Given the description of an element on the screen output the (x, y) to click on. 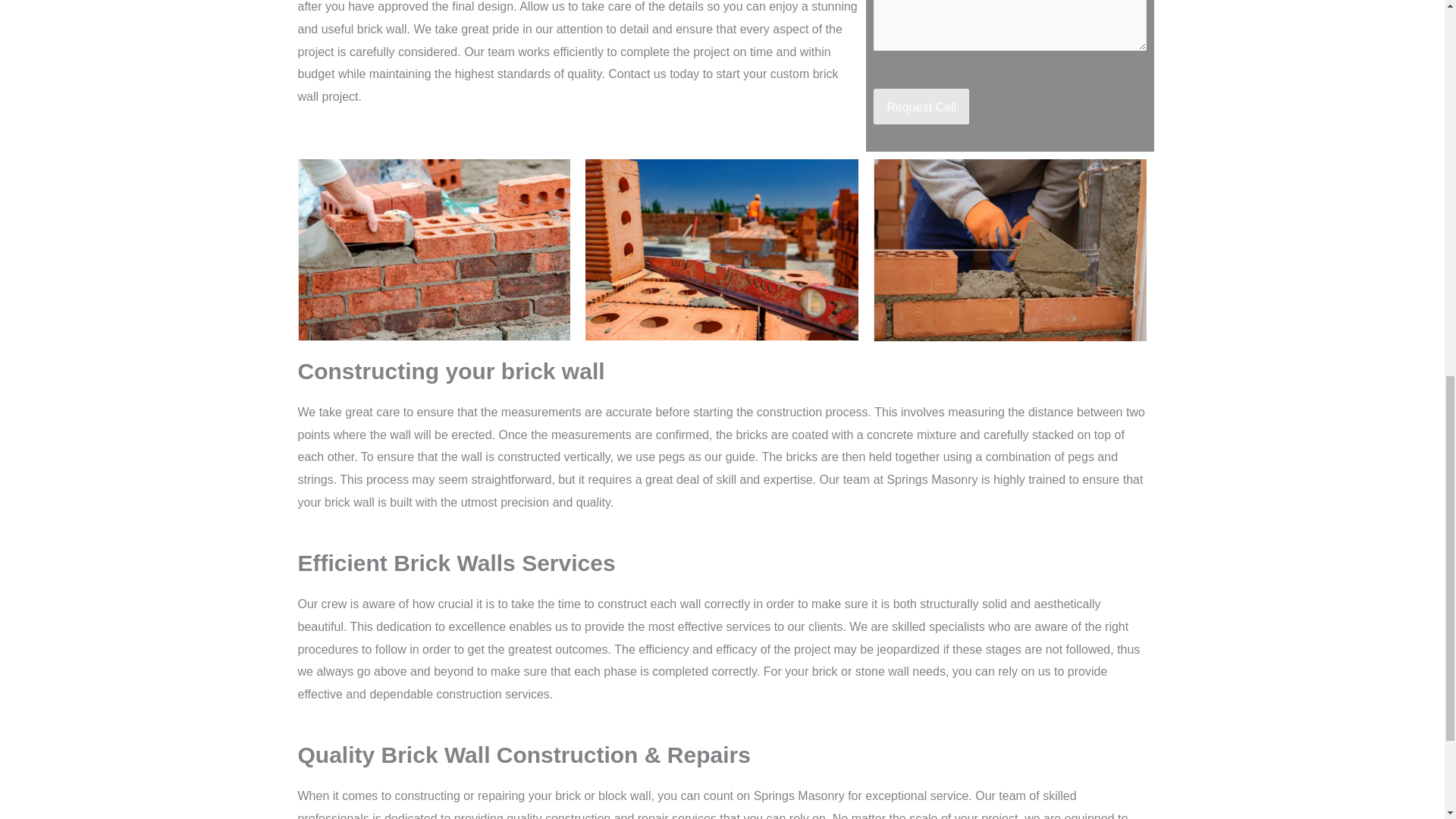
Request Call (921, 106)
